Given the description of an element on the screen output the (x, y) to click on. 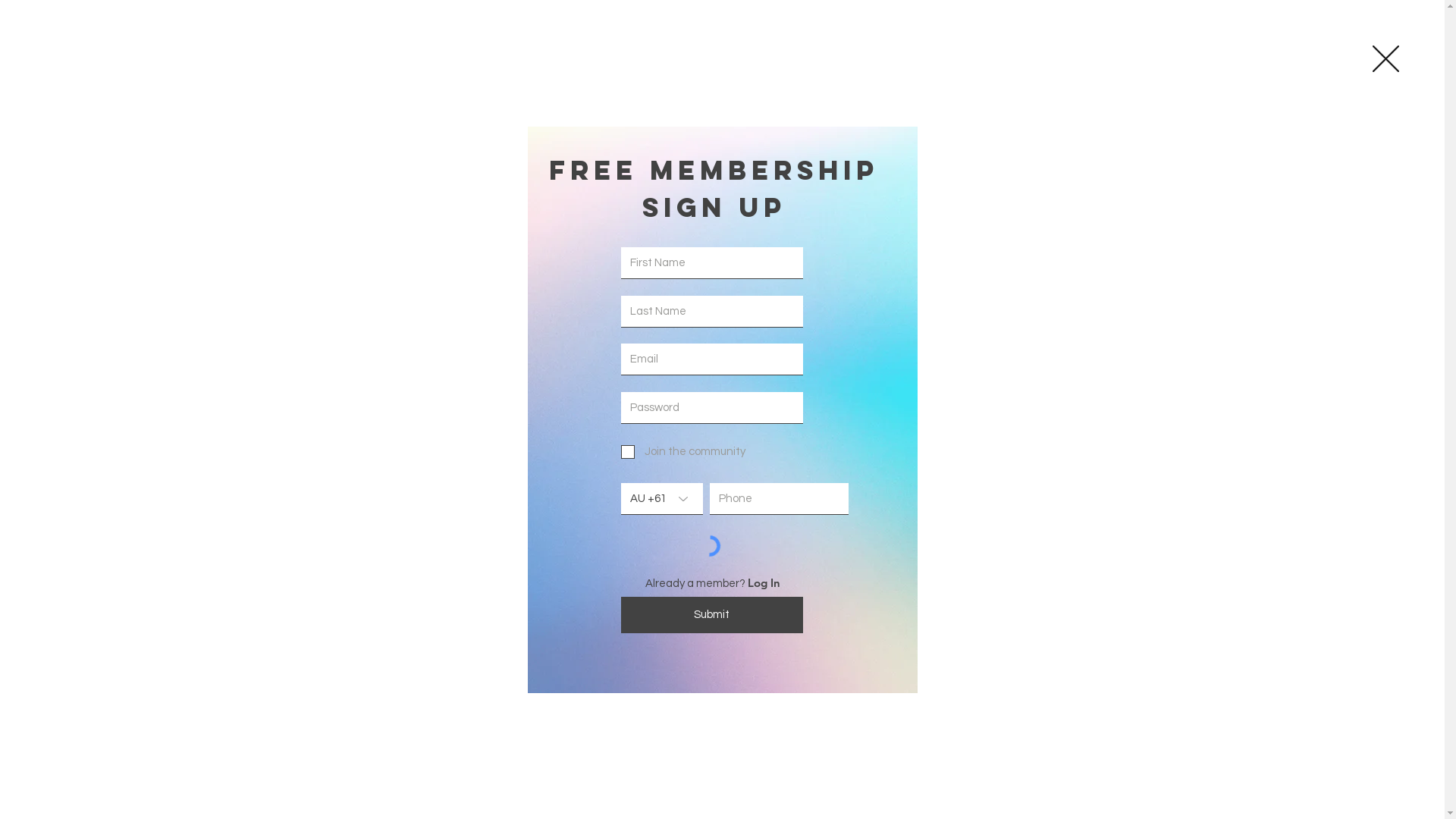
Back to site Element type: hover (1385, 58)
Submit Element type: text (711, 614)
